Given the description of an element on the screen output the (x, y) to click on. 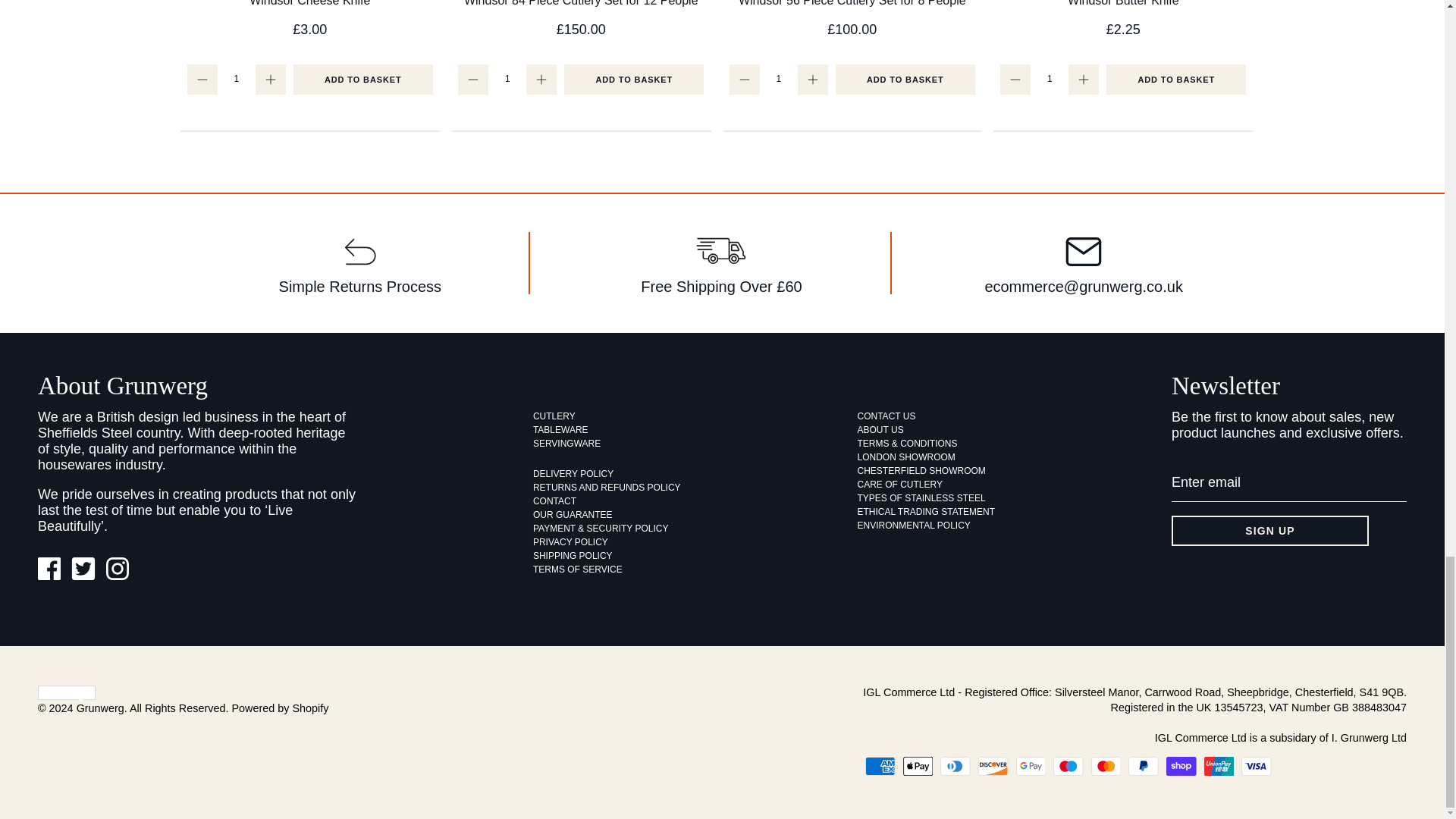
Add to basket (1176, 79)
Add to basket (905, 79)
1 (507, 78)
1 (1048, 78)
1 (777, 78)
1 (236, 78)
Minus (202, 79)
Add to basket (363, 79)
Add to basket (633, 79)
